Given the description of an element on the screen output the (x, y) to click on. 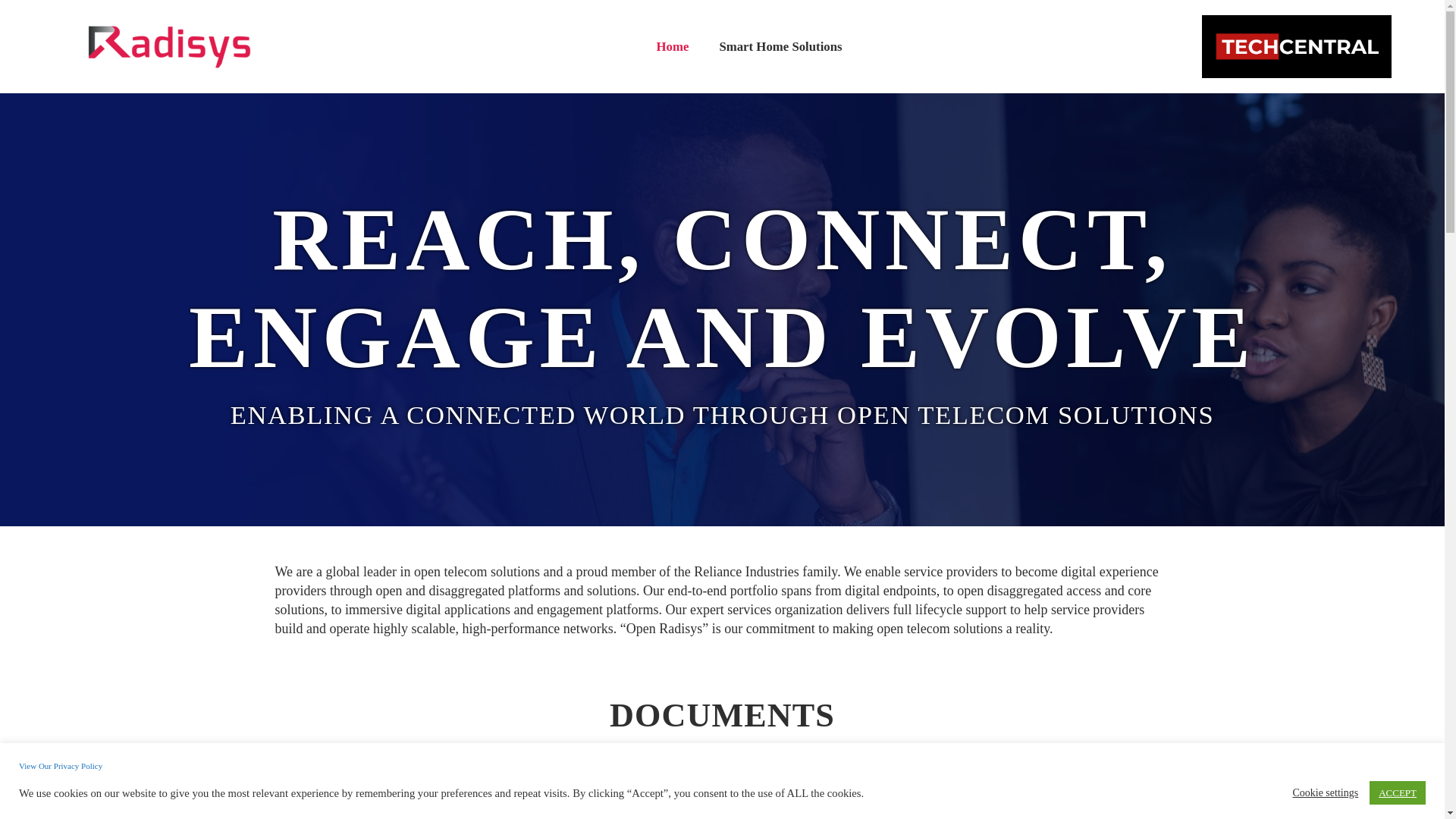
Cookie settings (1325, 792)
Smart Home Solutions (780, 46)
Home (673, 46)
ACCEPT (1397, 792)
View Our Privacy Policy (59, 765)
CORPORATE PROFILE (721, 811)
